Given the description of an element on the screen output the (x, y) to click on. 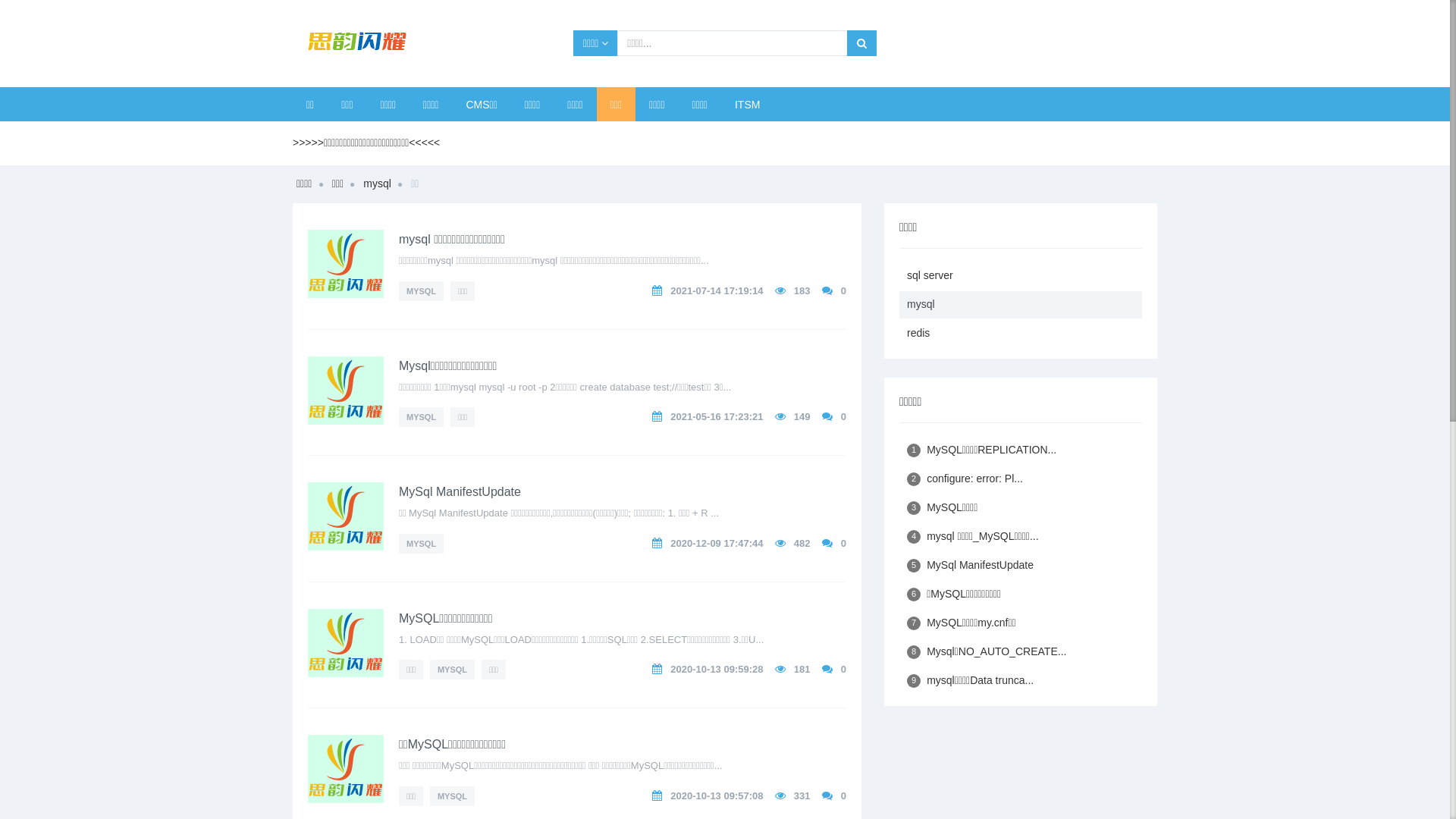
2020-10-13 09:59:28 Element type: text (716, 668)
5
MySql ManifestUpdate Element type: text (1020, 565)
2020-12-09 17:47:44 Element type: text (716, 543)
MYSQL Element type: text (420, 416)
482 Element type: text (801, 543)
0 Element type: text (843, 795)
331 Element type: text (801, 795)
redis Element type: text (1020, 333)
181 Element type: text (801, 668)
mysql Element type: text (1020, 304)
0 Element type: text (843, 668)
0 Element type: text (843, 416)
0 Element type: text (843, 543)
149 Element type: text (801, 416)
2
configure: error: Pl... Element type: text (1020, 478)
MySql ManifestUpdate Element type: text (459, 491)
2021-05-16 17:23:21 Element type: text (716, 416)
MYSQL Element type: text (451, 796)
MYSQL Element type: text (420, 291)
0 Element type: text (843, 290)
MYSQL Element type: text (420, 543)
sql server Element type: text (1020, 275)
mysql Element type: text (377, 183)
ITSM Element type: text (747, 104)
MYSQL Element type: text (451, 669)
183 Element type: text (801, 290)
2021-07-14 17:19:14 Element type: text (716, 290)
2020-10-13 09:57:08 Element type: text (716, 795)
